Given the description of an element on the screen output the (x, y) to click on. 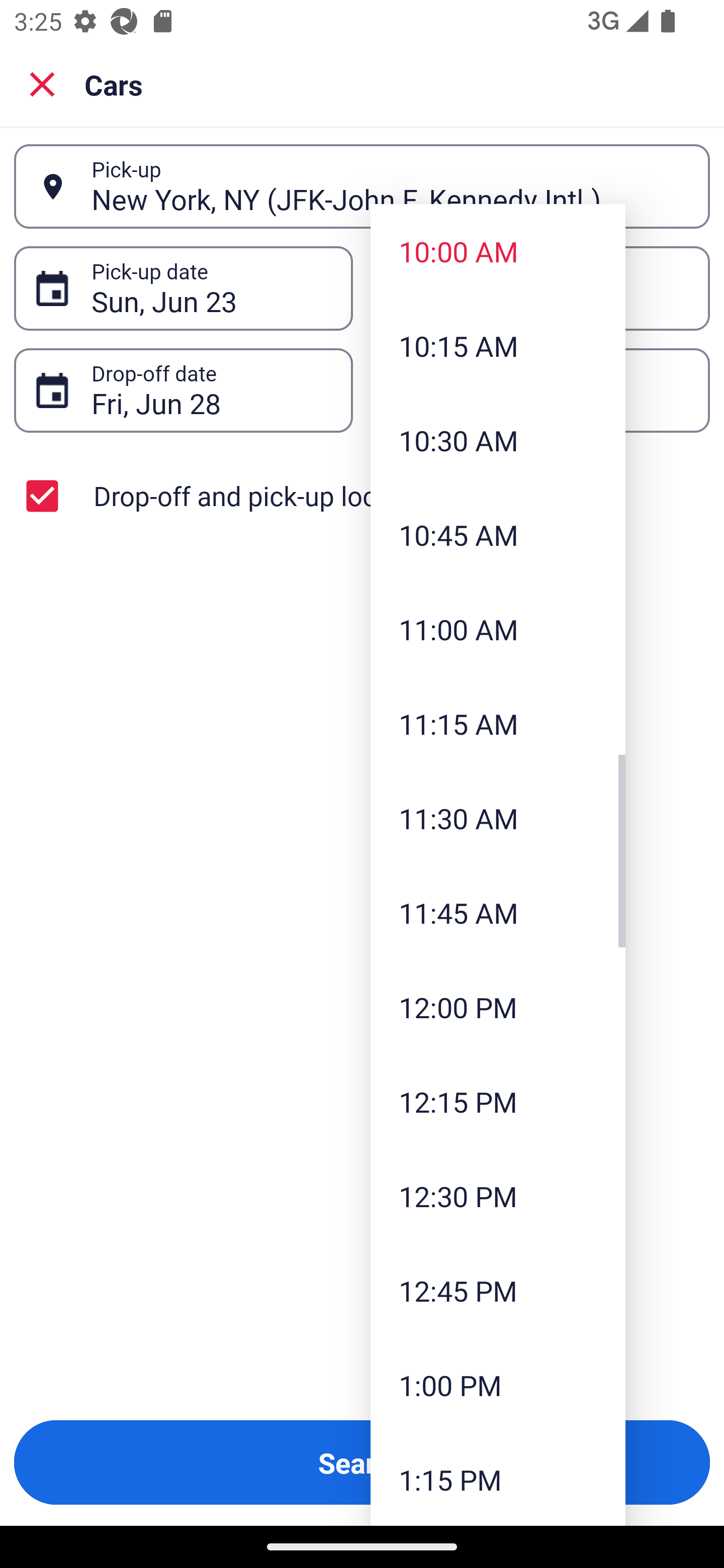
10:00 AM (497, 250)
10:15 AM (497, 345)
10:30 AM (497, 440)
10:45 AM (497, 534)
11:00 AM (497, 628)
11:15 AM (497, 723)
11:30 AM (497, 818)
11:45 AM (497, 912)
12:00 PM (497, 1006)
12:15 PM (497, 1101)
12:30 PM (497, 1196)
12:45 PM (497, 1290)
1:00 PM (497, 1384)
1:15 PM (497, 1478)
